Given the description of an element on the screen output the (x, y) to click on. 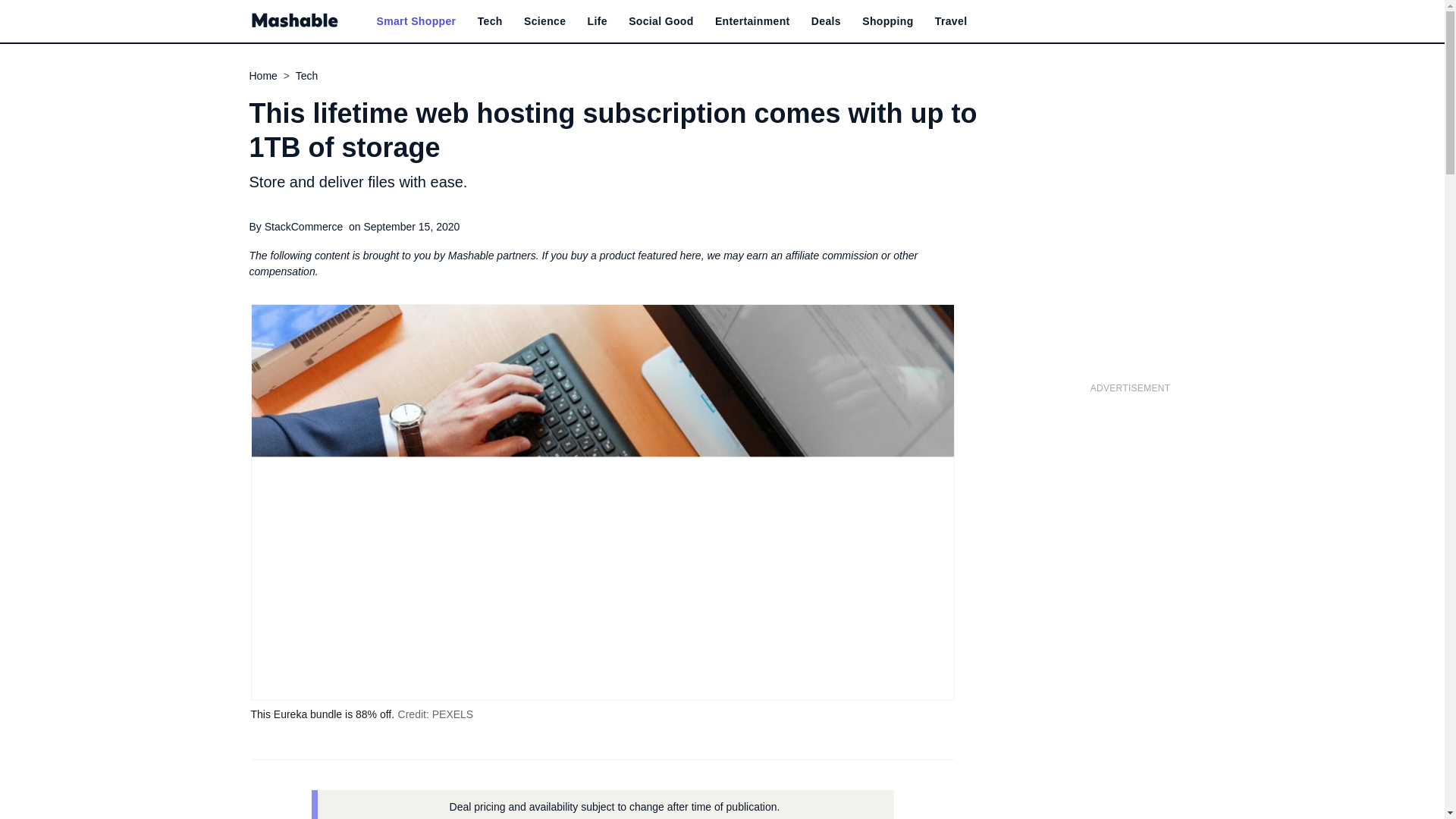
Shopping (886, 21)
Science (545, 21)
Entertainment (752, 21)
Tech (489, 21)
Social Good (661, 21)
Smart Shopper (415, 21)
Life (597, 21)
Deals (825, 21)
Travel (951, 21)
